Given the description of an element on the screen output the (x, y) to click on. 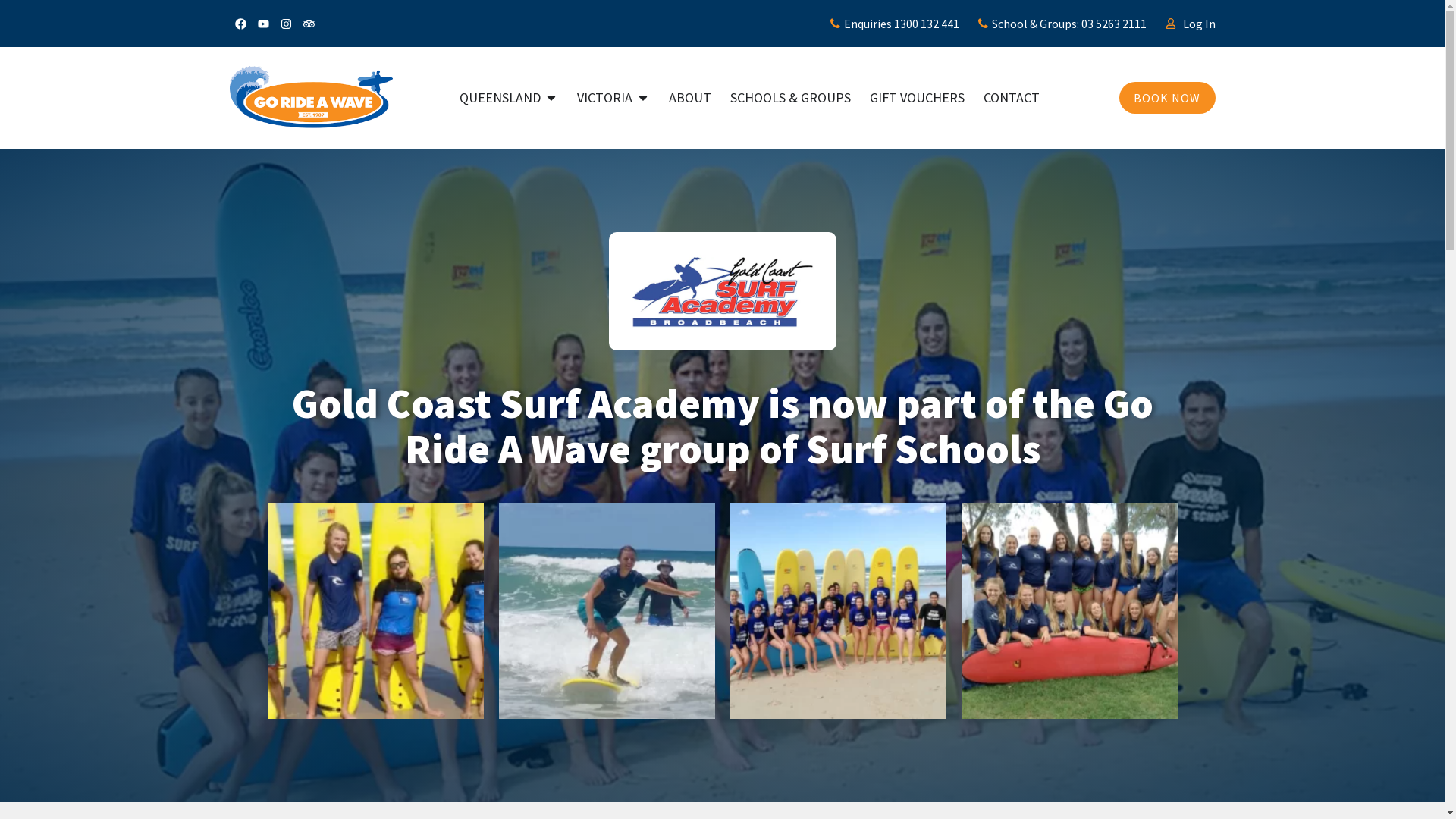
BOOK NOW Element type: text (1166, 97)
School & Groups: 03 5263 2111 Element type: text (1062, 23)
Log In Element type: text (1190, 23)
SCHOOLS & GROUPS Element type: text (790, 98)
GIFT VOUCHERS Element type: text (916, 98)
CONTACT Element type: text (1011, 98)
Enquiries 1300 132 441 Element type: text (894, 23)
ABOUT Element type: text (689, 98)
Gold Coast Surf Academy - Go Ride A Wave - 2 Element type: hover (721, 290)
